Given the description of an element on the screen output the (x, y) to click on. 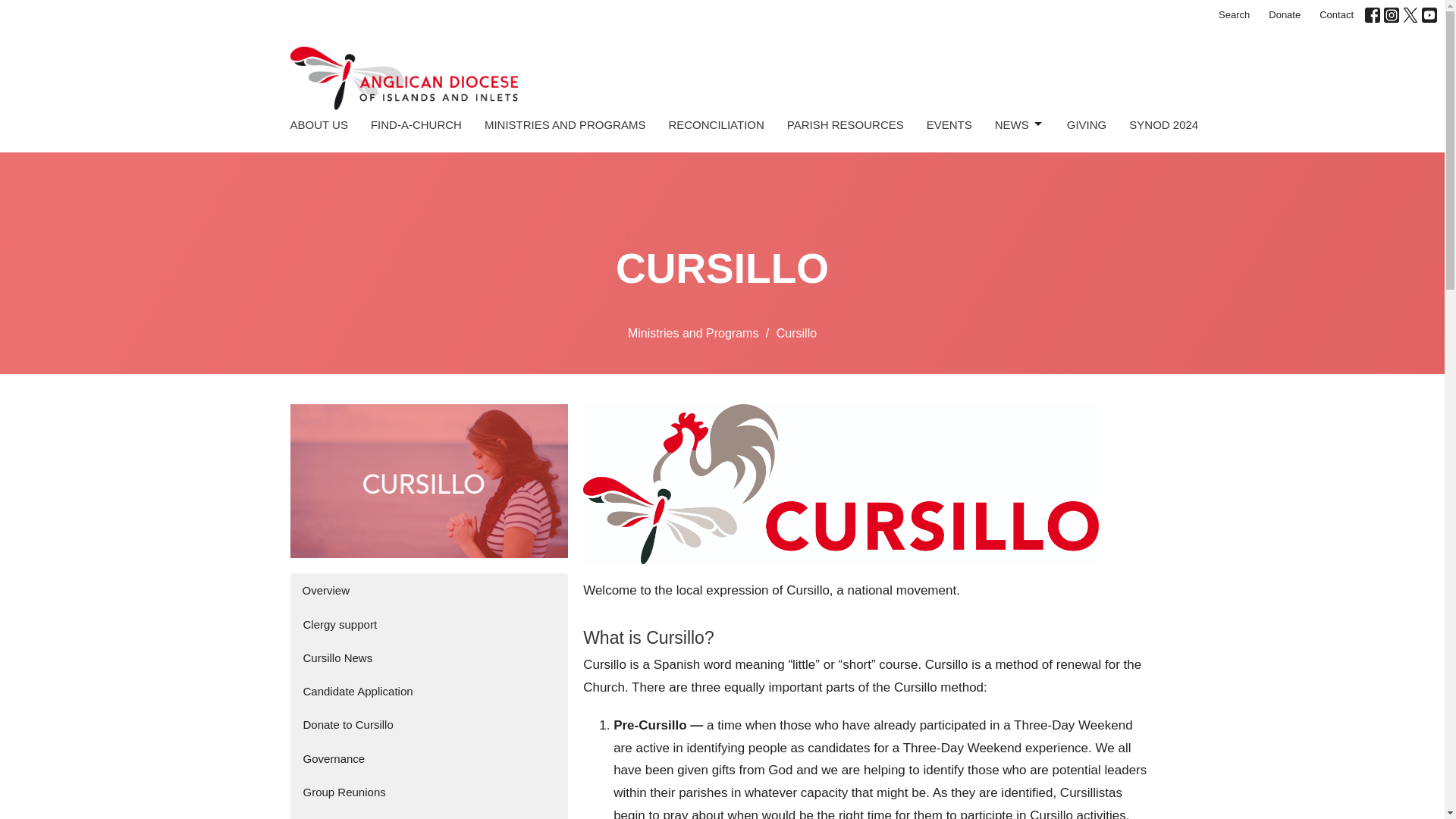
Search (1234, 15)
MINISTRIES AND PROGRAMS (565, 124)
NEWS (1018, 124)
SYNOD 2024 (1163, 124)
ABOUT US (318, 124)
Donate to Cursillo (428, 724)
Policies and Procedures (428, 813)
Contact (1336, 15)
Clergy support (428, 624)
RECONCILIATION (715, 124)
EVENTS (949, 124)
PARISH RESOURCES (845, 124)
Ministries and Programs (692, 332)
Donate (1283, 15)
Group Reunions (428, 791)
